Given the description of an element on the screen output the (x, y) to click on. 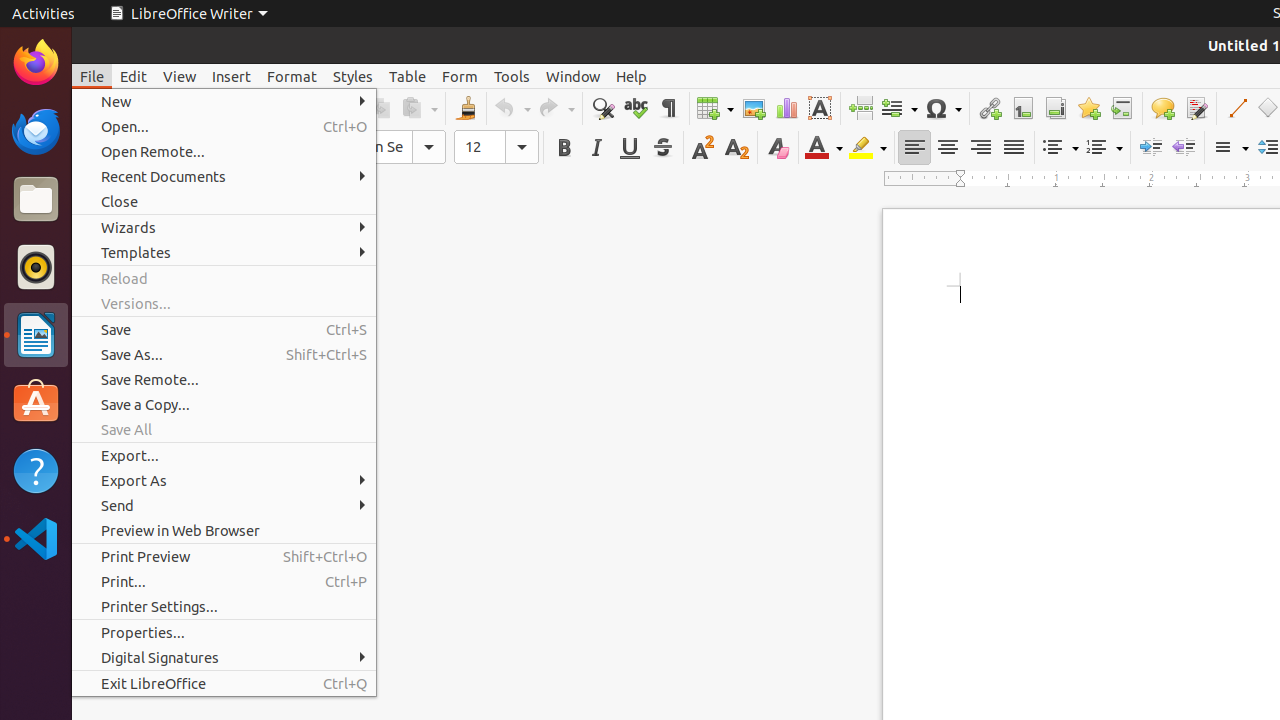
Italic Element type: toggle-button (596, 147)
Line Spacing Element type: push-button (1230, 147)
Numbering Element type: push-button (1104, 147)
Endnote Element type: push-button (1055, 108)
Save As... Element type: menu-item (224, 354)
